Given the description of an element on the screen output the (x, y) to click on. 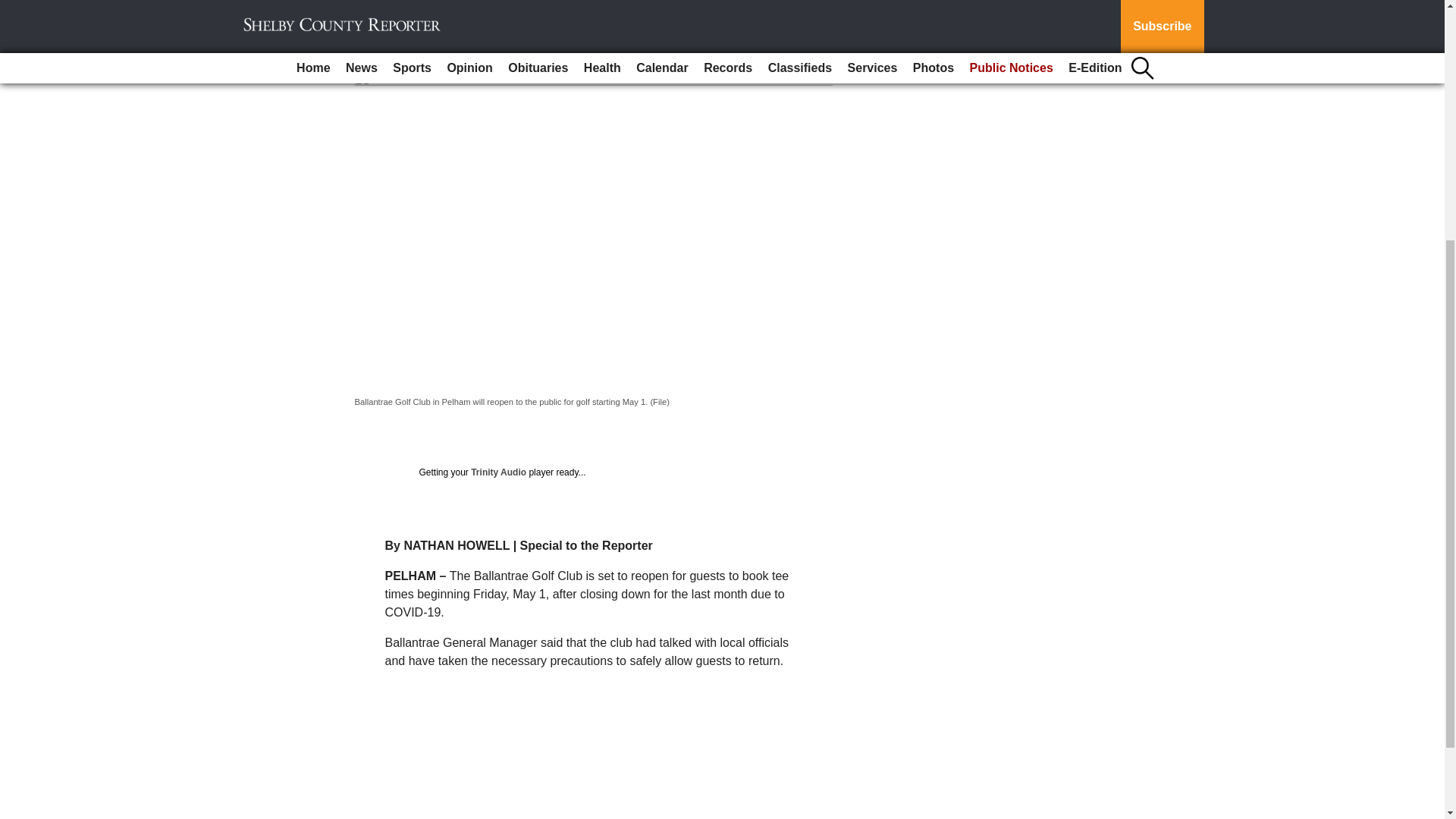
Alec Etheredge (397, 51)
Trinity Audio (497, 471)
